Given the description of an element on the screen output the (x, y) to click on. 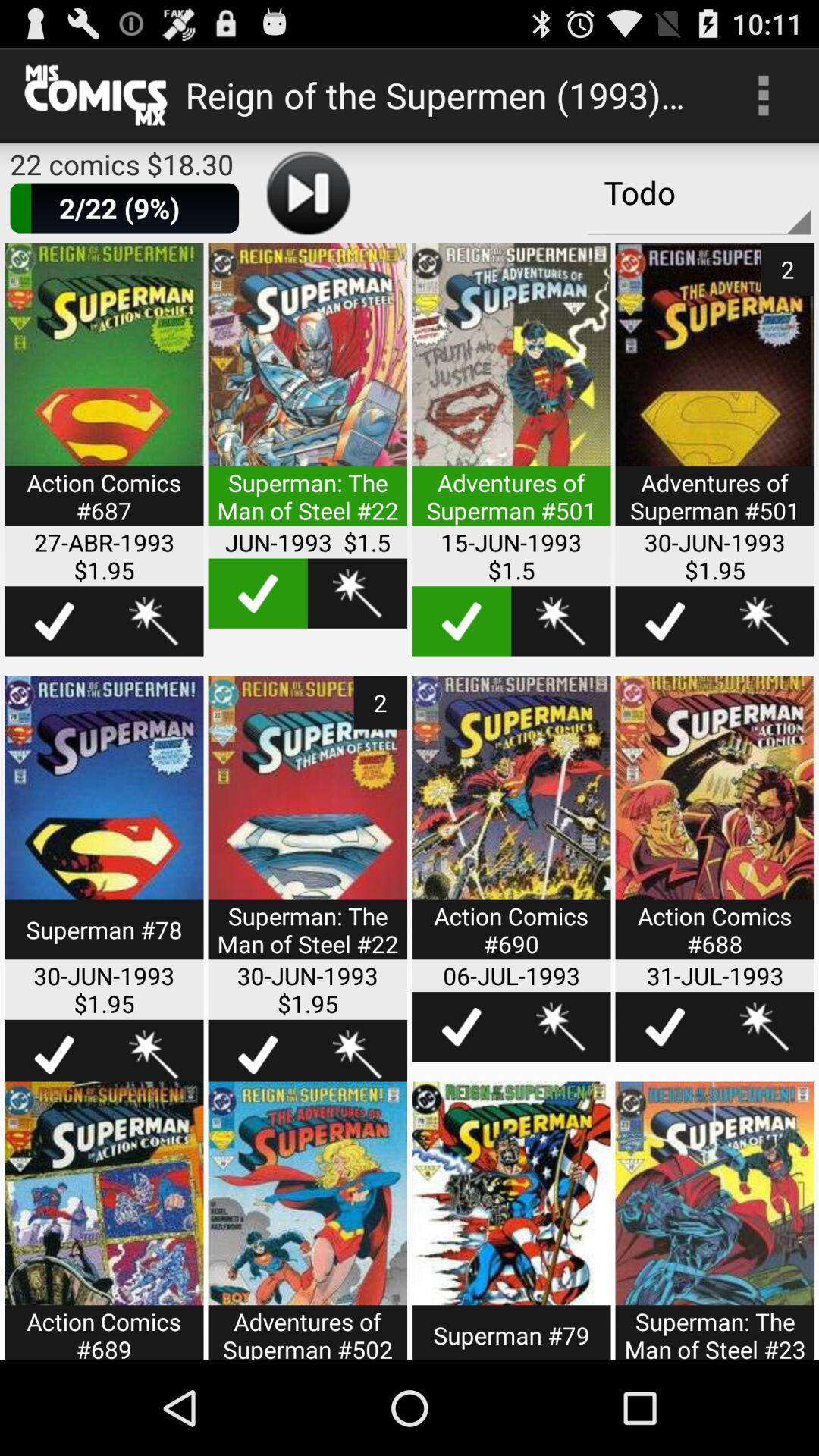
highlight this item (461, 1026)
